Given the description of an element on the screen output the (x, y) to click on. 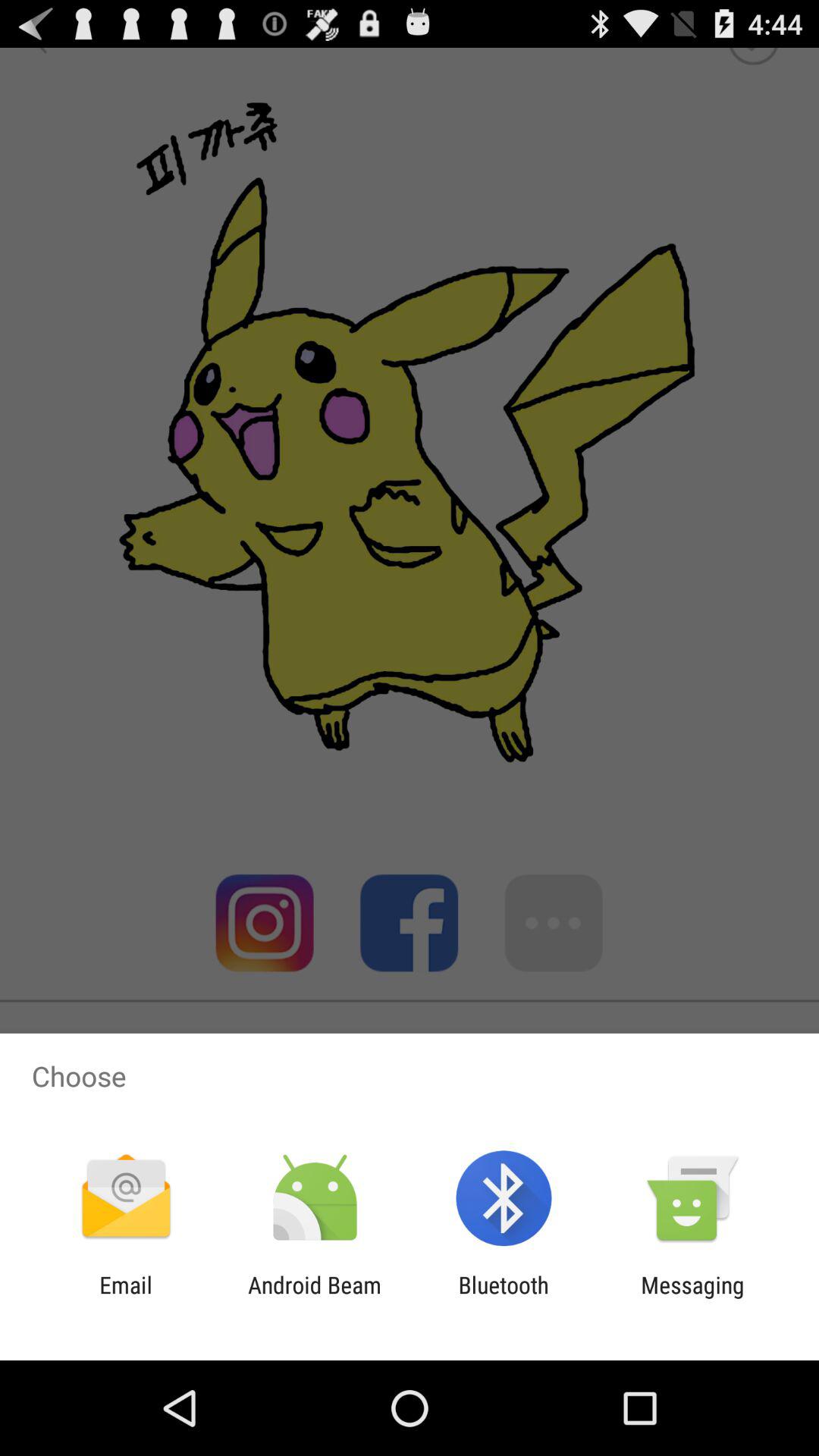
open bluetooth app (503, 1298)
